Given the description of an element on the screen output the (x, y) to click on. 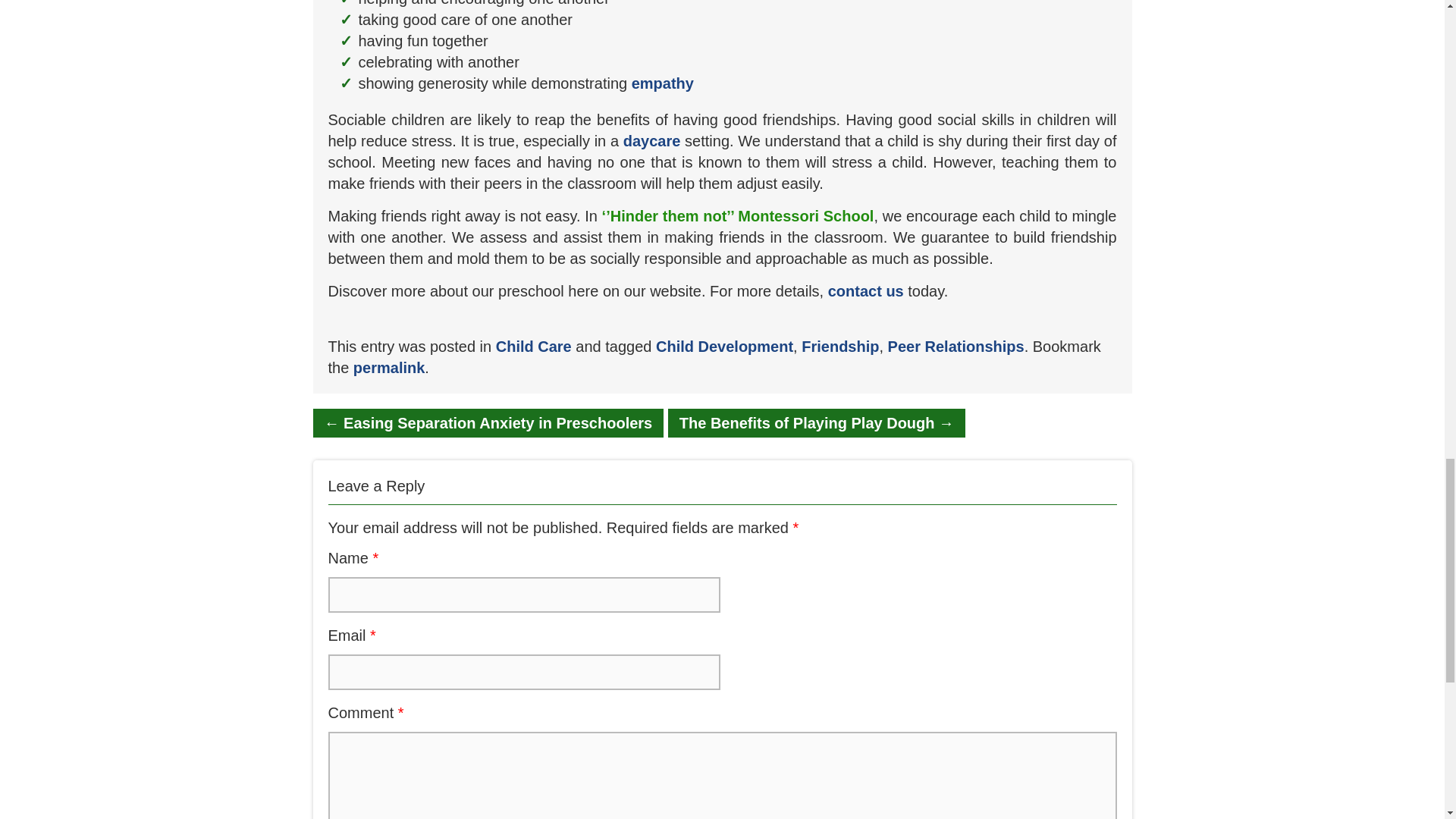
Child Care (534, 346)
Child Development (724, 346)
permalink (389, 367)
Permalink to Teaching a Child about Friendship (389, 367)
empathy (662, 82)
Peer Relationships (956, 346)
daycare (652, 139)
contact us (866, 289)
Friendship (840, 346)
